Given the description of an element on the screen output the (x, y) to click on. 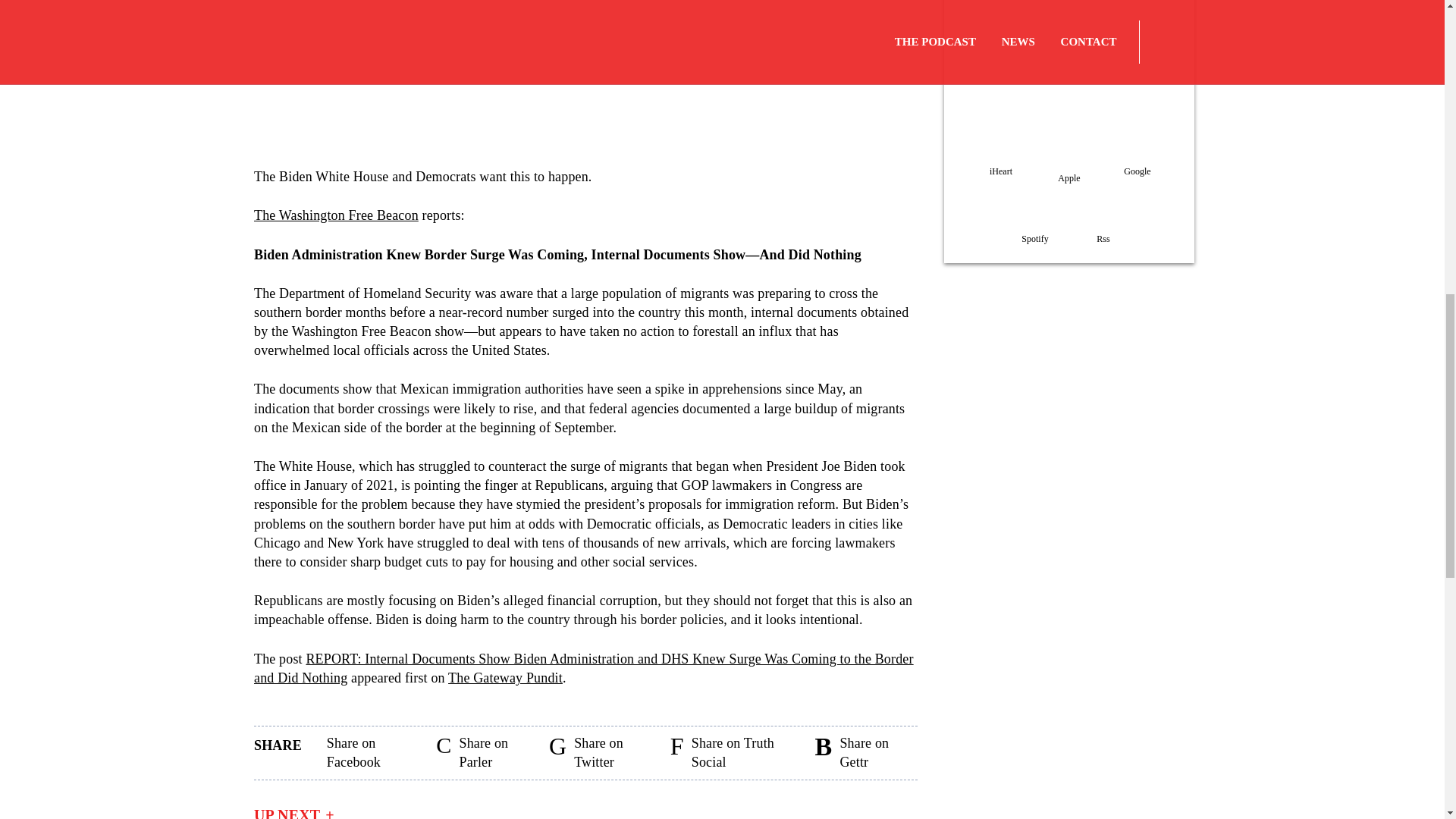
Google (1137, 155)
The Gateway Pundit (505, 677)
Spotify (1034, 223)
iHeart (1000, 155)
Share on Facebook (318, 752)
Share on Twitter (557, 752)
Share on Truth Social (676, 752)
Share on Parler (443, 752)
Rss (1102, 223)
Share on Gettr (824, 752)
The Washington Free Beacon (336, 215)
Apple (1069, 159)
